Given the description of an element on the screen output the (x, y) to click on. 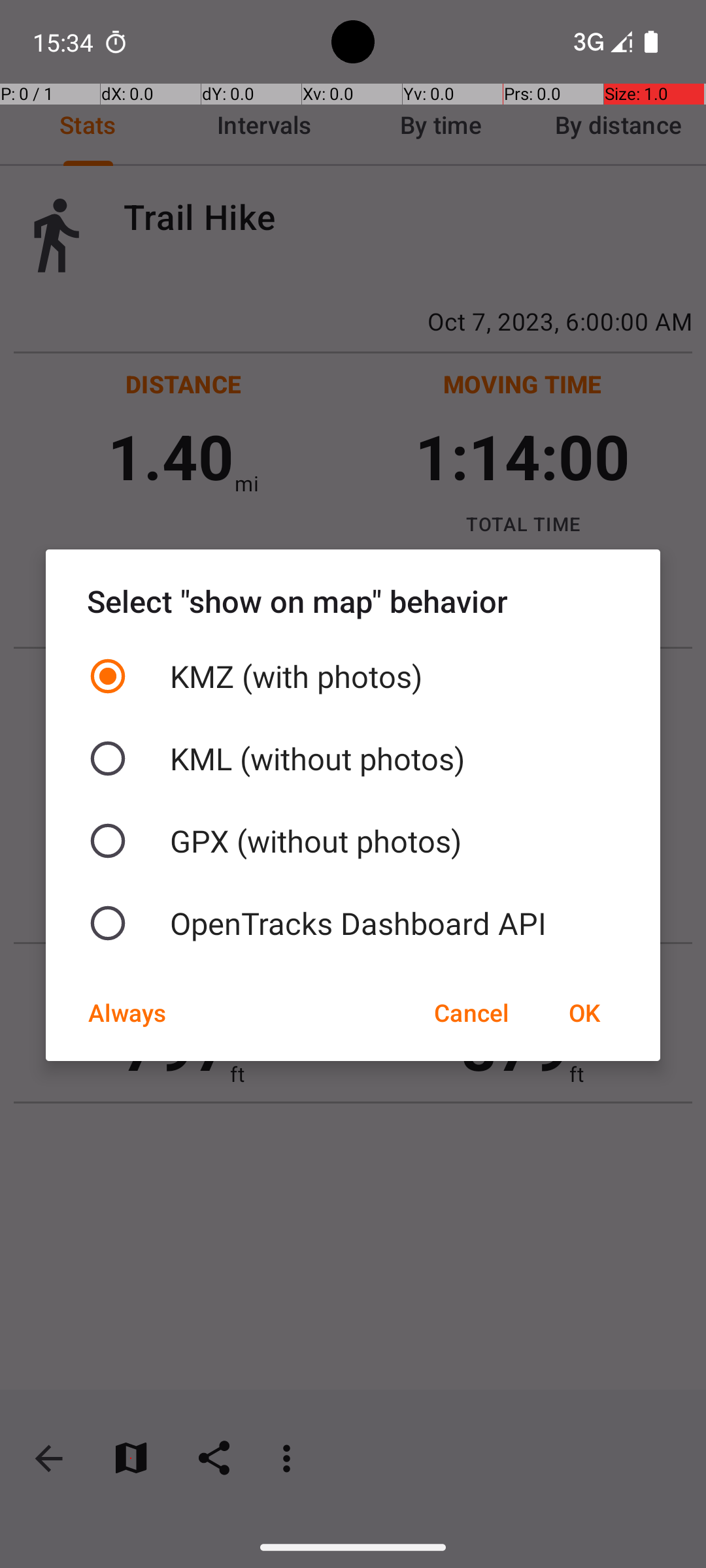
Select "show on map" behavior Element type: android.widget.TextView (352, 600)
KMZ (with photos) Element type: android.widget.CheckedTextView (352, 676)
KML (without photos) Element type: android.widget.CheckedTextView (352, 758)
GPX (without photos) Element type: android.widget.CheckedTextView (352, 840)
OpenTracks Dashboard API Element type: android.widget.CheckedTextView (352, 923)
